Given the description of an element on the screen output the (x, y) to click on. 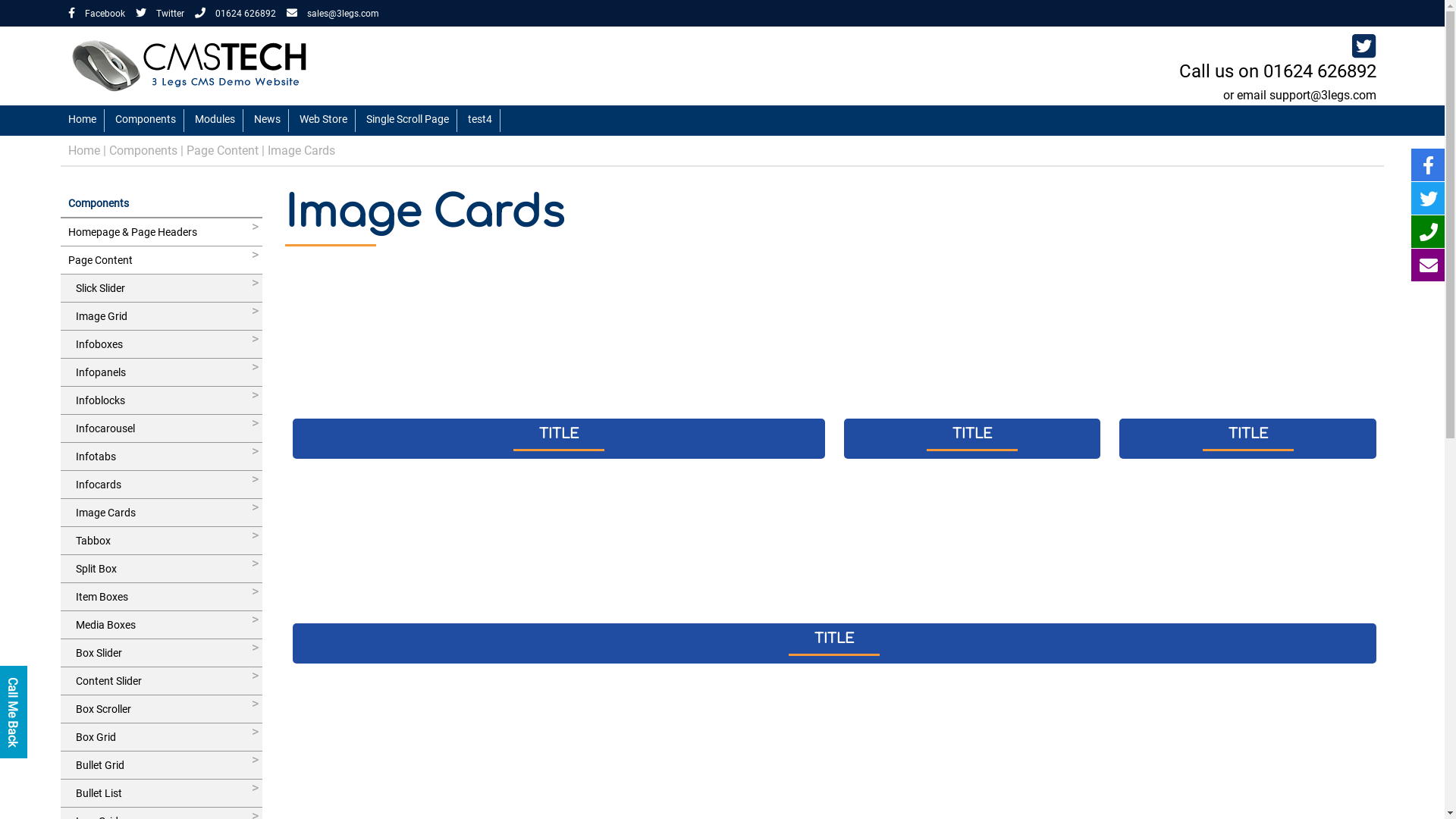
Page Content Element type: text (222, 150)
Box Slider Element type: text (161, 652)
Back to Homepage Element type: hover (196, 64)
Page Content Element type: text (161, 259)
Slick Slider Element type: text (161, 287)
Infocarousel Element type: text (161, 428)
Image Cards Element type: text (161, 512)
01624 626892 Element type: text (1319, 70)
Box Scroller Element type: text (161, 708)
01624 626892 Element type: text (235, 12)
support@3legs.com Element type: text (1322, 94)
Infopanels Element type: text (161, 371)
Split Box Element type: text (161, 568)
Components Element type: text (143, 150)
Facebook Element type: text (96, 12)
Content Slider Element type: text (161, 680)
TITLE Element type: text (972, 365)
Infoblocks Element type: text (161, 400)
Bullet List Element type: text (161, 792)
Item Boxes Element type: text (161, 596)
Home Element type: text (84, 150)
TITLE Element type: text (1247, 365)
Bullet Grid Element type: text (161, 764)
Components Element type: text (145, 120)
test4 Element type: text (480, 120)
Single Scroll Page Element type: text (407, 120)
Image Grid Element type: text (161, 315)
TITLE Element type: text (558, 365)
Media Boxes Element type: text (161, 624)
Infocards Element type: text (161, 484)
Homepage & Page Headers Element type: text (161, 231)
Infoboxes Element type: text (161, 343)
Modules Element type: text (215, 120)
Components Element type: text (161, 202)
sales@3legs.com Element type: text (332, 12)
Image Cards Element type: text (301, 150)
Box Grid Element type: text (161, 736)
Web Store Element type: text (323, 120)
Tabbox Element type: text (161, 540)
Home Element type: text (82, 120)
Infotabs Element type: text (161, 456)
News Element type: text (267, 120)
TITLE Element type: text (834, 570)
Twitter Element type: text (159, 12)
